Given the description of an element on the screen output the (x, y) to click on. 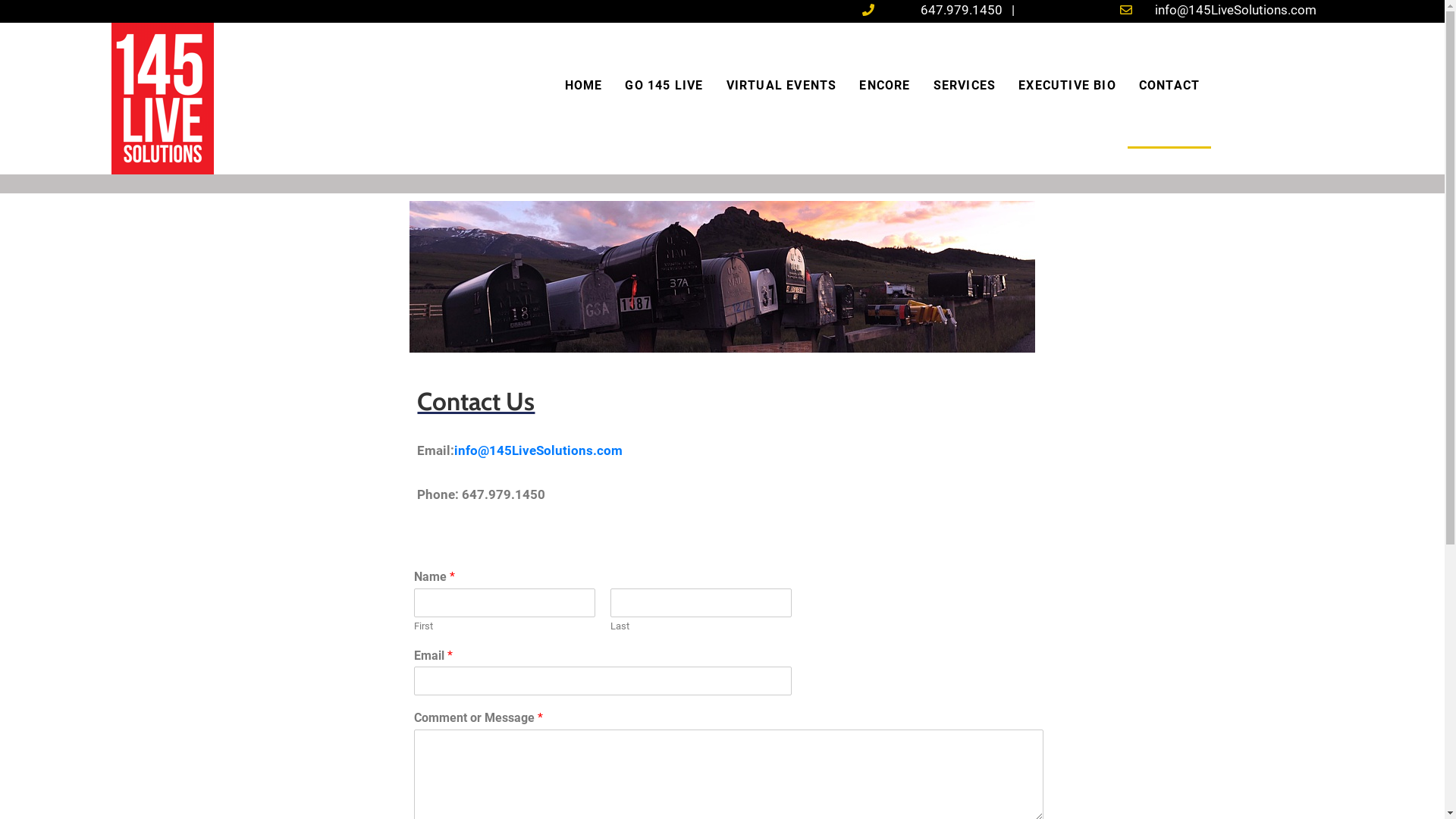
VIRTUAL EVENTS Element type: text (781, 85)
CONTACT Element type: text (1169, 85)
647.979.1450 Element type: text (961, 9)
info@145LiveSolutions.com Element type: text (1235, 9)
EXECUTIVE BIO Element type: text (1067, 85)
ENCORE Element type: text (884, 85)
GO 145 LIVE Element type: text (663, 85)
HOME Element type: text (583, 85)
145logo Element type: hover (162, 98)
info@145LiveSolutions.com Element type: text (538, 450)
SERVICES Element type: text (964, 85)
